Given the description of an element on the screen output the (x, y) to click on. 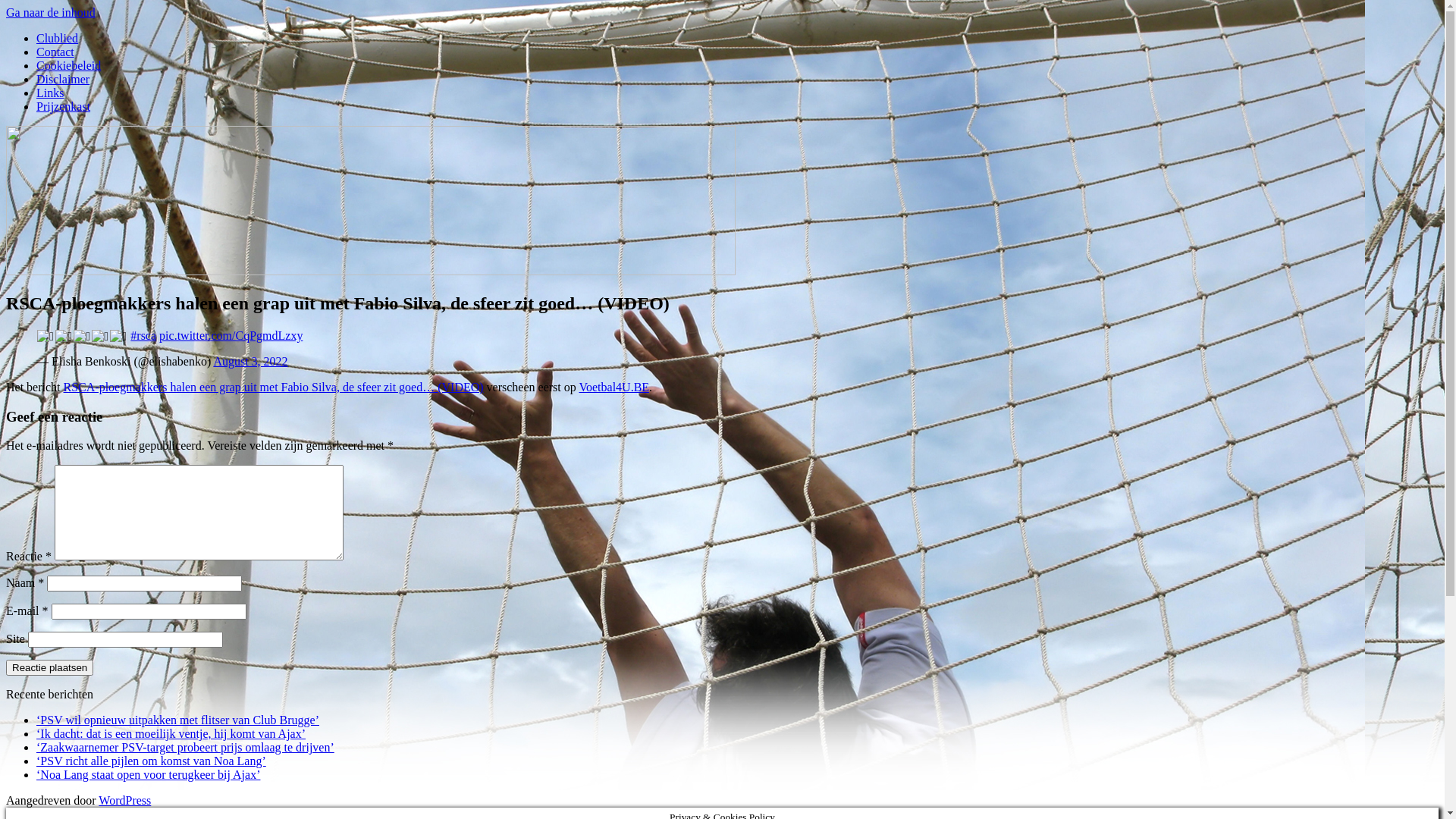
Links Element type: text (49, 92)
Voetbal4U.BE Element type: text (613, 386)
August 3, 2022 Element type: text (250, 360)
#rsca Element type: text (143, 335)
Cookiebeleid Element type: text (68, 65)
Prijzenkast Element type: text (63, 106)
WordPress Element type: text (124, 799)
Clublied Element type: text (57, 37)
pic.twitter.com/CqPgmdLzxy Element type: text (230, 335)
Contact Element type: text (55, 51)
Disclaimer Element type: text (62, 78)
Reactie plaatsen Element type: text (49, 667)
Ga naar de inhoud Element type: text (50, 12)
Club Brugge RSS Element type: text (49, 308)
